Given the description of an element on the screen output the (x, y) to click on. 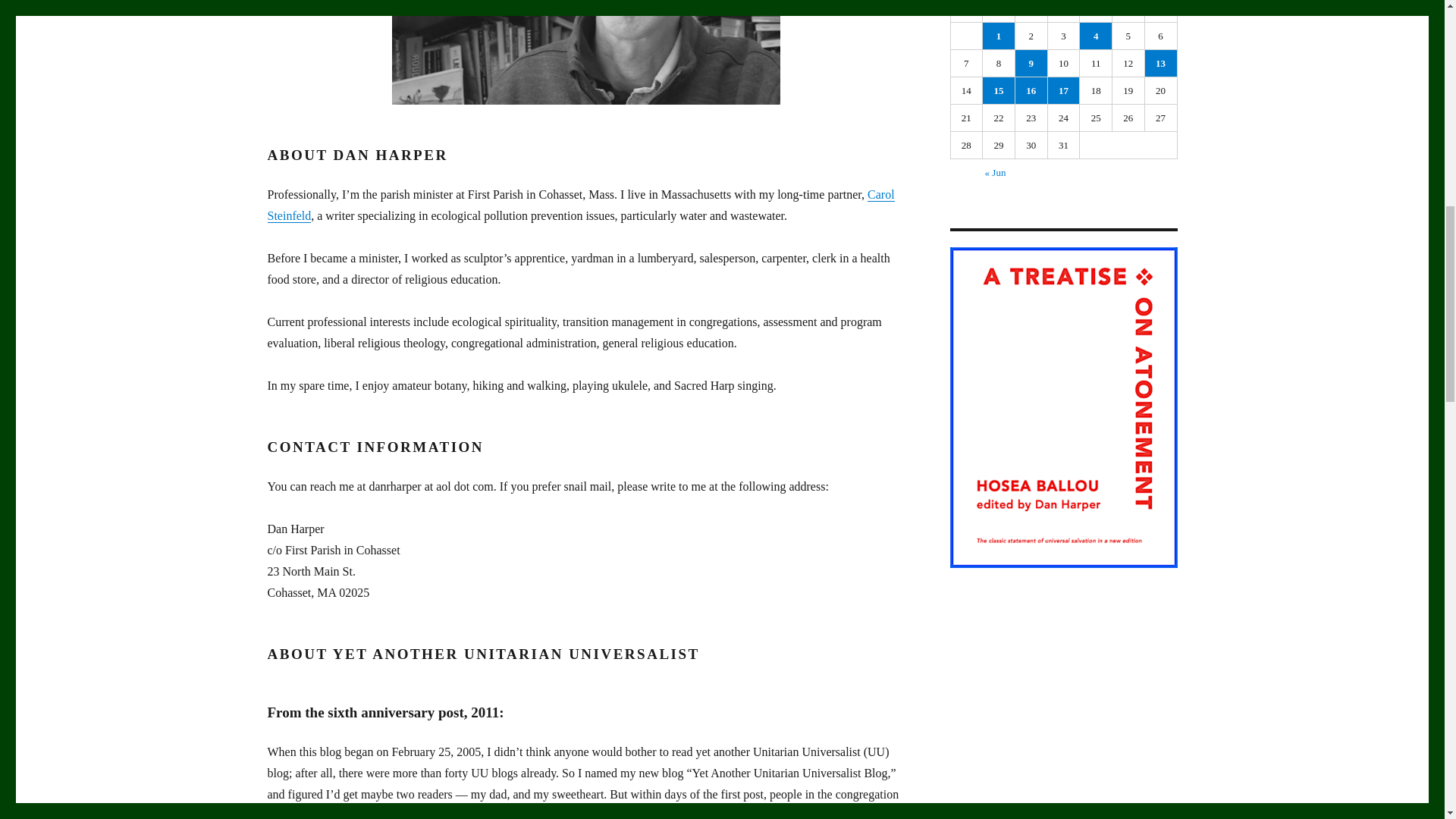
15 (998, 90)
Sunday (967, 11)
16 (1030, 90)
Saturday (1160, 11)
9 (1030, 62)
Thursday (1096, 11)
13 (1160, 62)
4 (1096, 35)
1 (998, 35)
Monday (998, 11)
Wednesday (1064, 11)
Tuesday (1031, 11)
Friday (1128, 11)
Carol Steinfeld (579, 204)
17 (1064, 90)
